Given the description of an element on the screen output the (x, y) to click on. 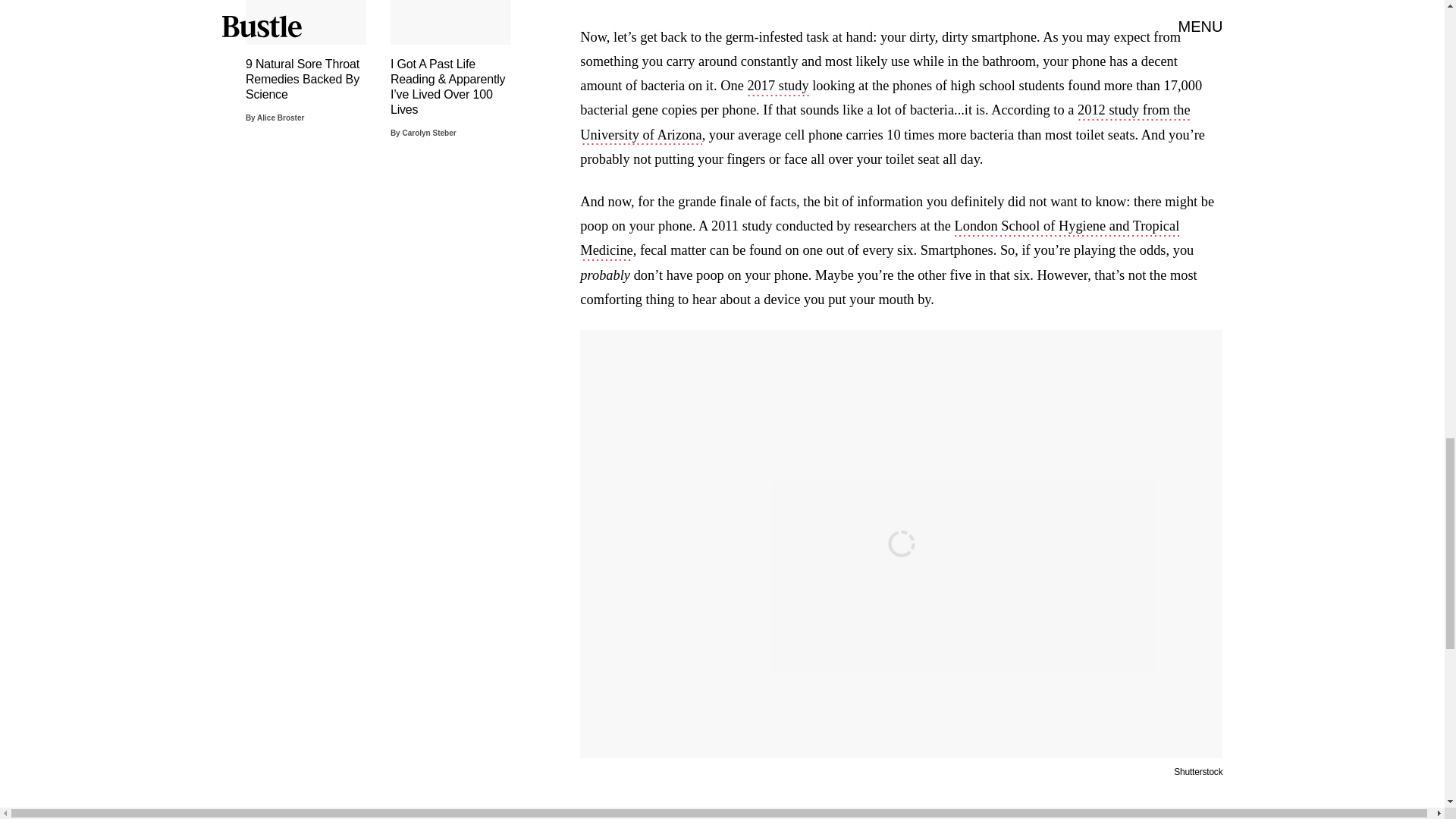
2017 study (777, 86)
London School of Hygiene and Tropical Medicine (879, 239)
2012 study from the University of Arizona (884, 123)
